Given the description of an element on the screen output the (x, y) to click on. 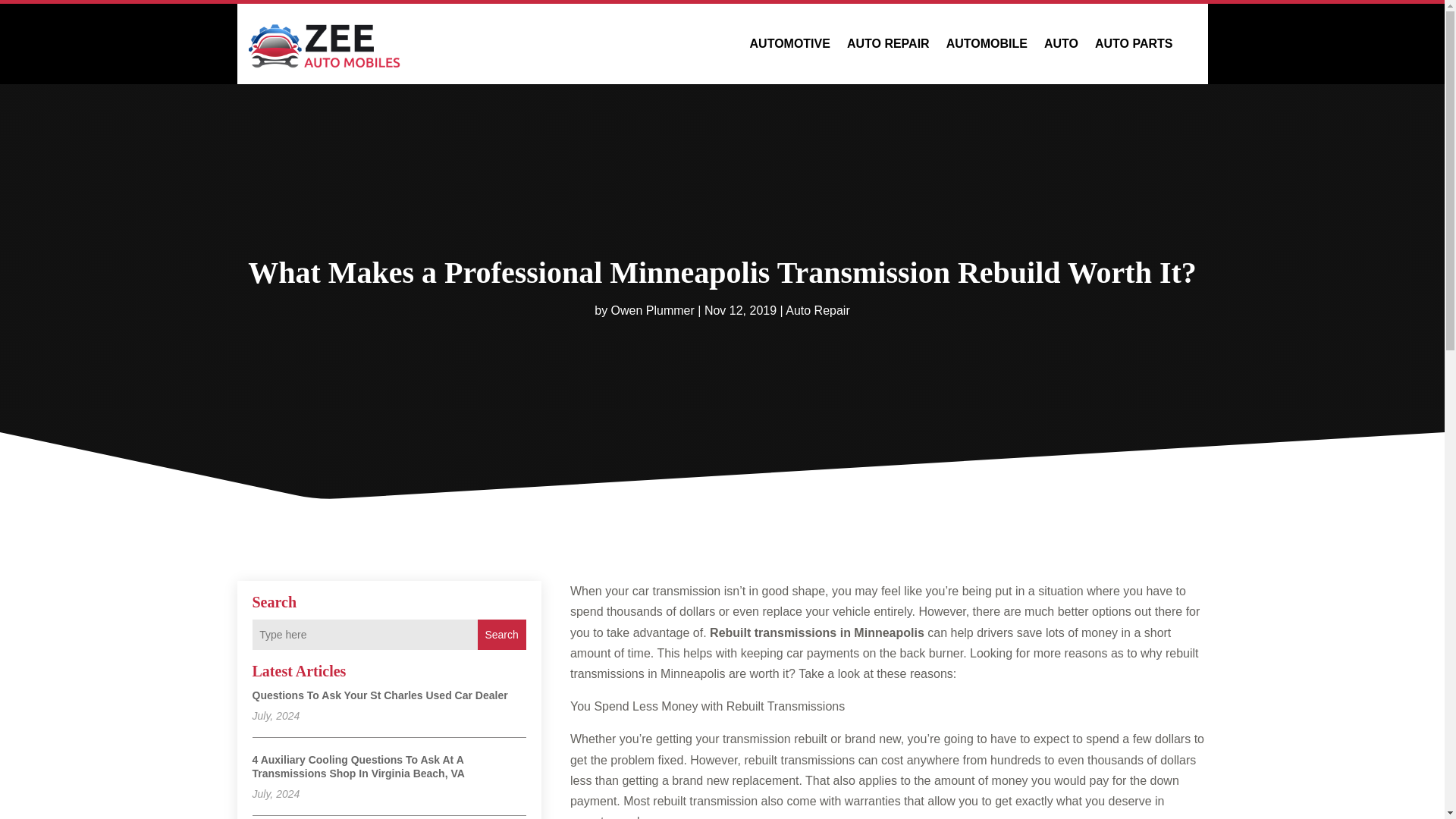
AUTOMOBILE (986, 43)
AUTO REPAIR (888, 43)
AUTOMOTIVE (789, 43)
Auto Repair (818, 309)
Owen Plummer (652, 309)
Search (501, 634)
Posts by Owen Plummer (652, 309)
Questions To Ask Your St Charles Used Car Dealer (378, 695)
AUTO PARTS (1133, 43)
